Given the description of an element on the screen output the (x, y) to click on. 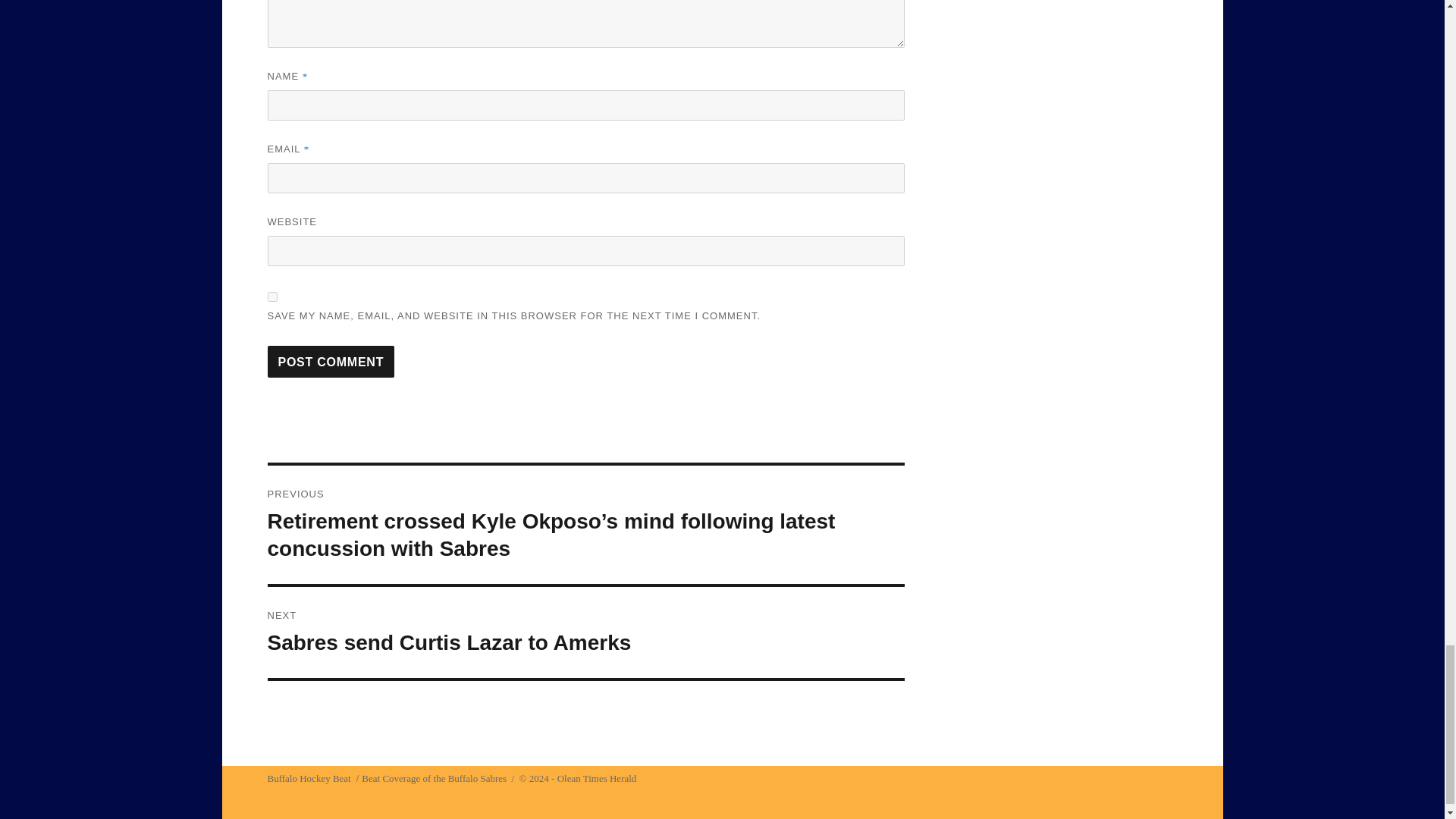
Olean Times Herald (597, 778)
Post Comment (330, 361)
yes (271, 296)
Buffalo Hockey Beat (308, 778)
Post Comment (585, 632)
